Given the description of an element on the screen output the (x, y) to click on. 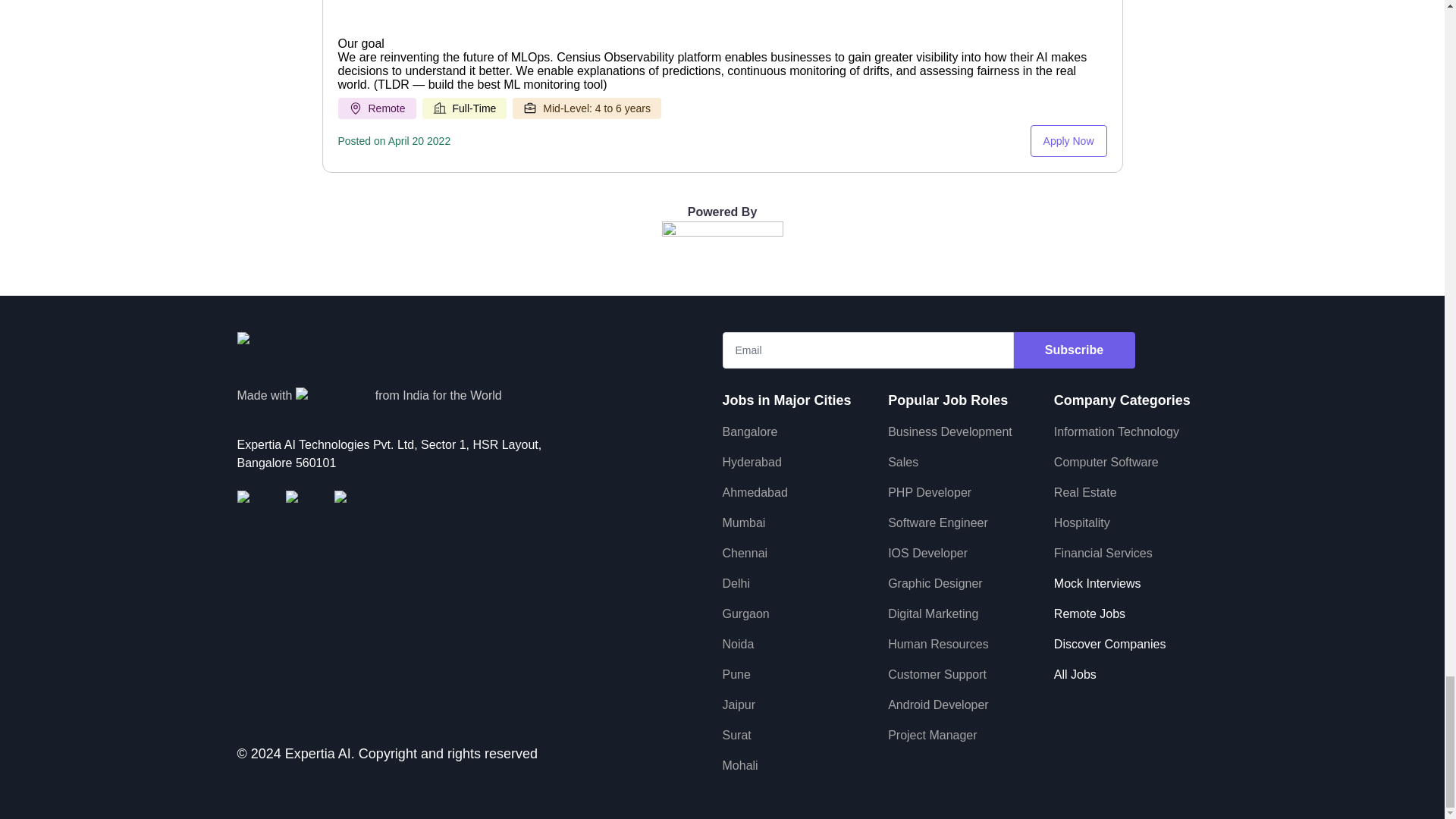
Mohali (739, 765)
Business Development (949, 431)
Pune (735, 674)
IOS Developer (928, 553)
Mumbai (743, 522)
Sales (903, 461)
PHP Developer (929, 492)
Subscribe (1073, 350)
Apply Now (1068, 141)
Delhi (735, 583)
Gurgaon (745, 613)
Ahmedabad (754, 492)
Surat (736, 735)
Noida (738, 644)
Bangalore (749, 431)
